Given the description of an element on the screen output the (x, y) to click on. 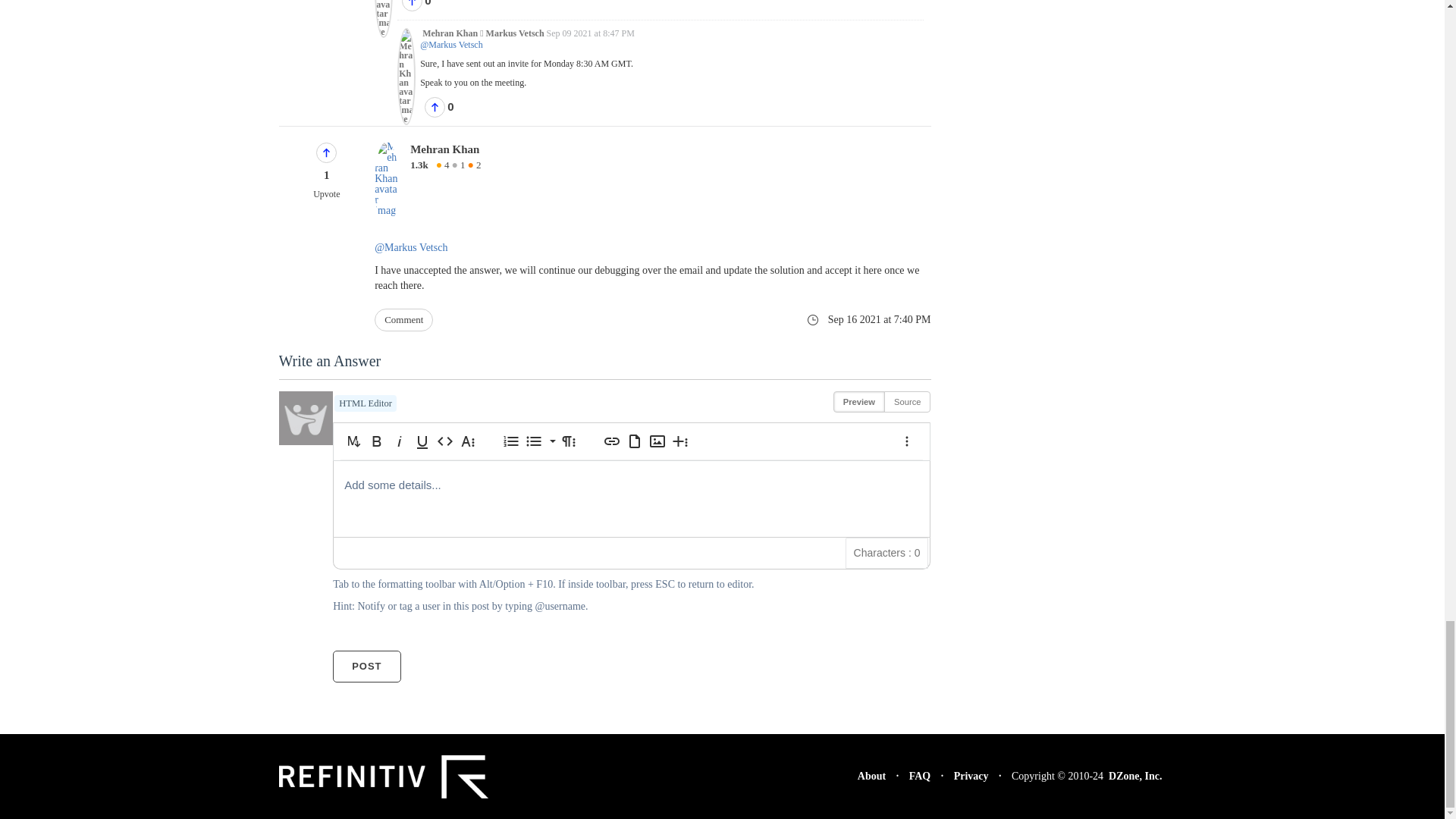
Post (366, 666)
